Given the description of an element on the screen output the (x, y) to click on. 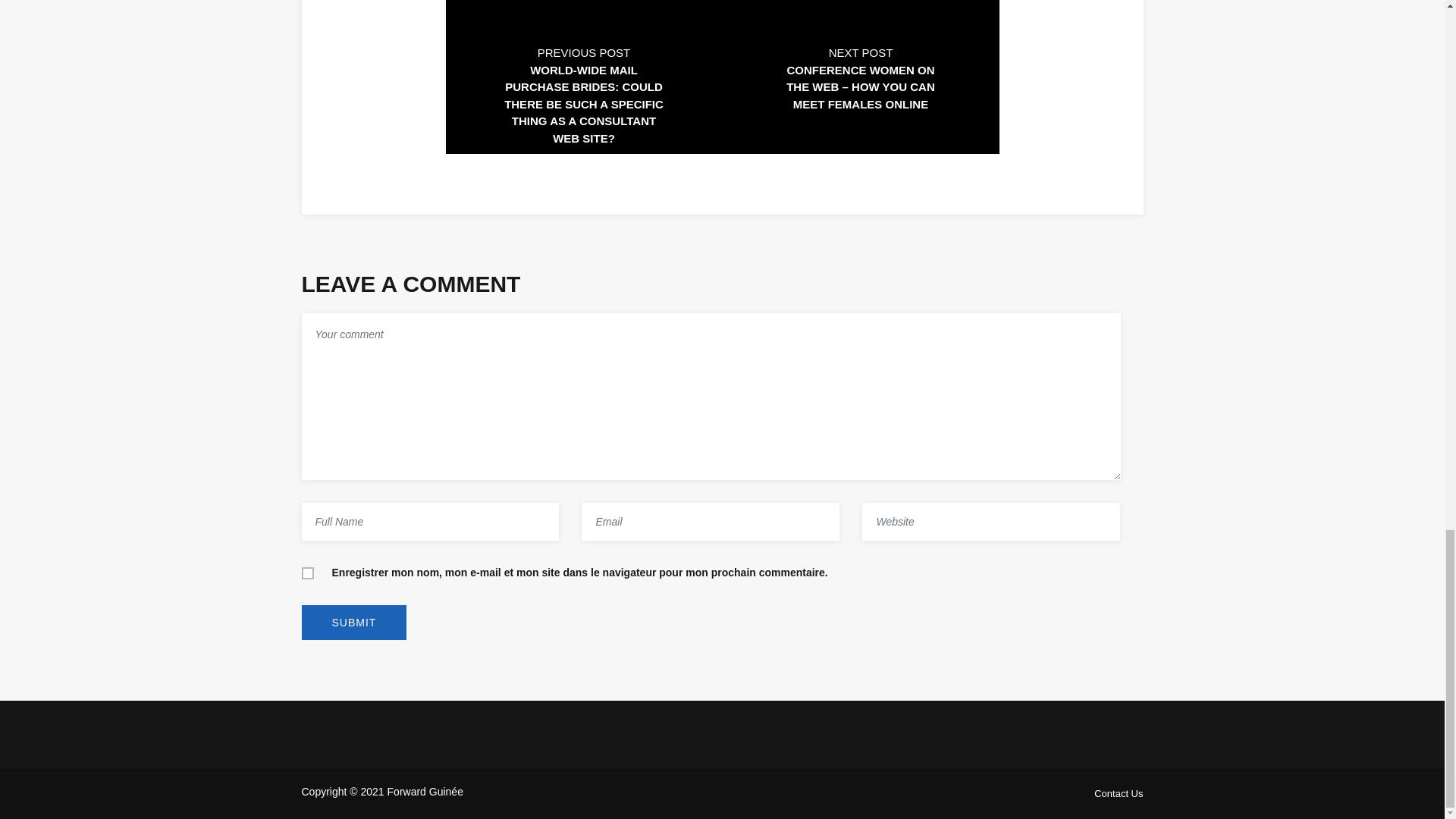
Submit (354, 622)
Contact Us (1118, 793)
Submit (354, 622)
